Given the description of an element on the screen output the (x, y) to click on. 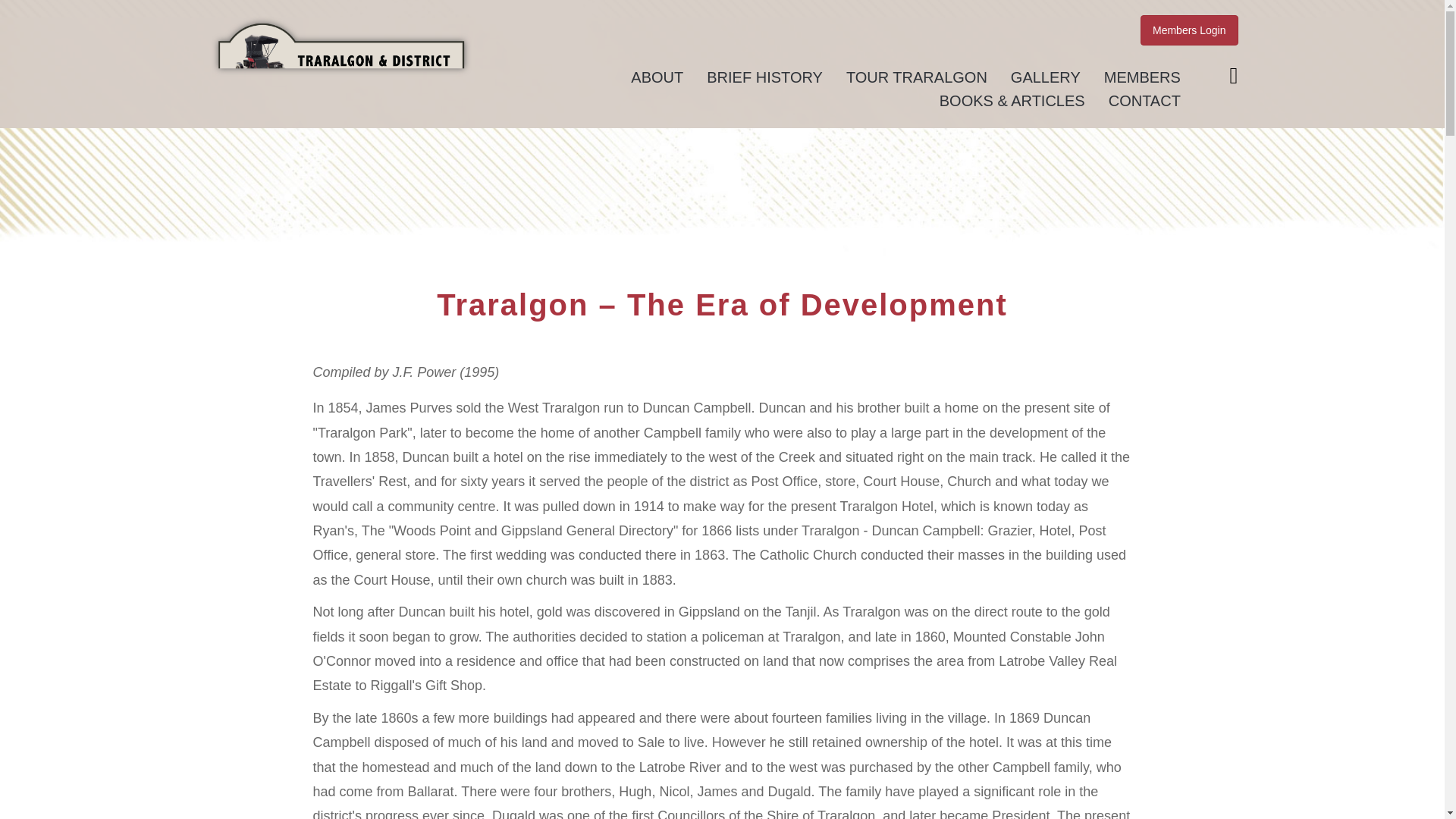
ABOUT (657, 76)
MEMBERS (1142, 76)
Members Login (1189, 30)
TOUR TRARALGON (916, 76)
BRIEF HISTORY (764, 76)
CONTACT (1144, 101)
THS-logo-horizontal (339, 64)
GALLERY (1045, 76)
